Given the description of an element on the screen output the (x, y) to click on. 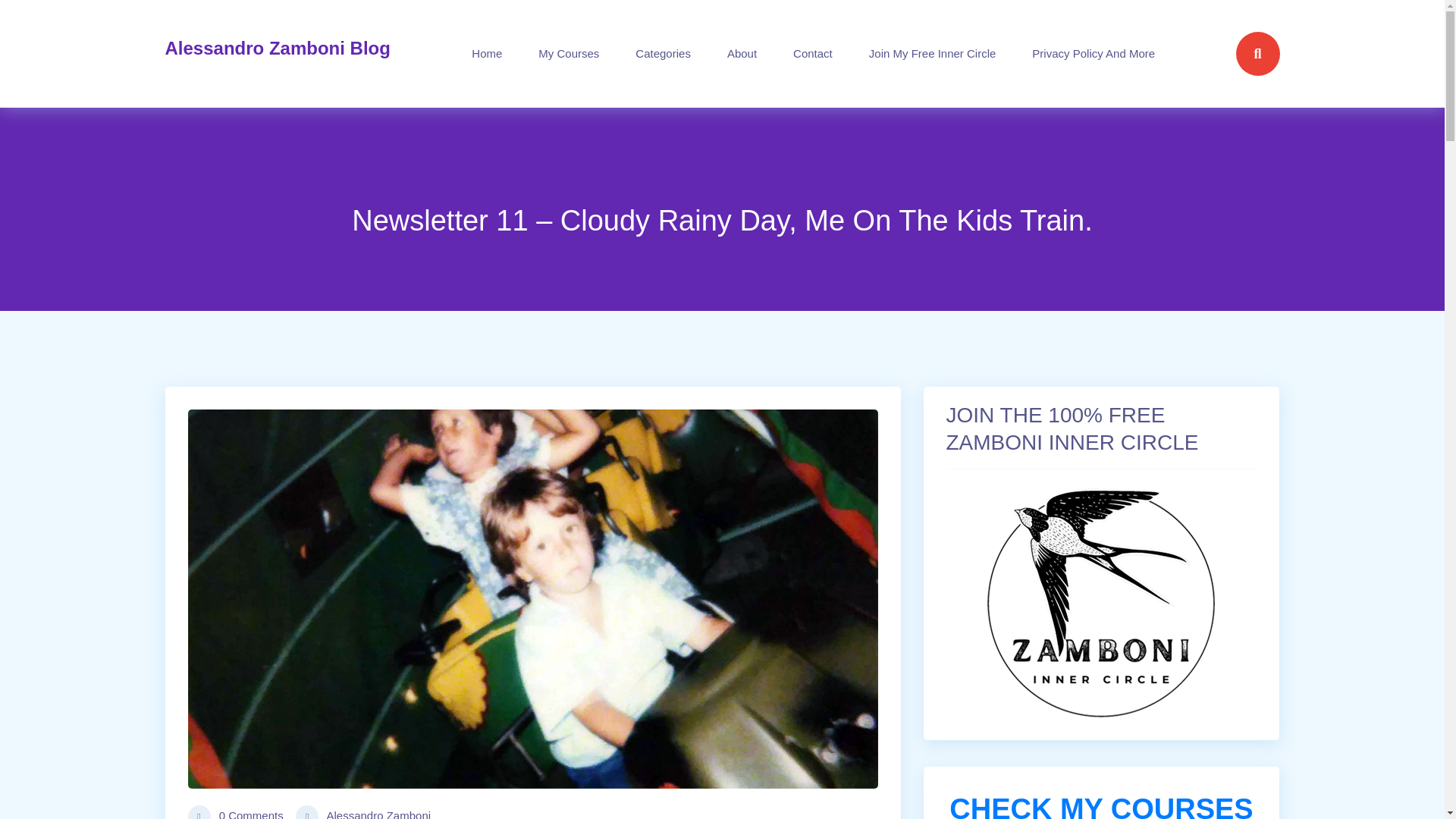
Alessandro Zamboni Blog (277, 53)
Privacy Policy And More (1093, 53)
Alessandro Zamboni Blog (277, 53)
Alessandro Zamboni (362, 812)
Join My Free Inner Circle (932, 53)
0 Comments (235, 812)
Alessandro Zamboni (362, 812)
